Given the description of an element on the screen output the (x, y) to click on. 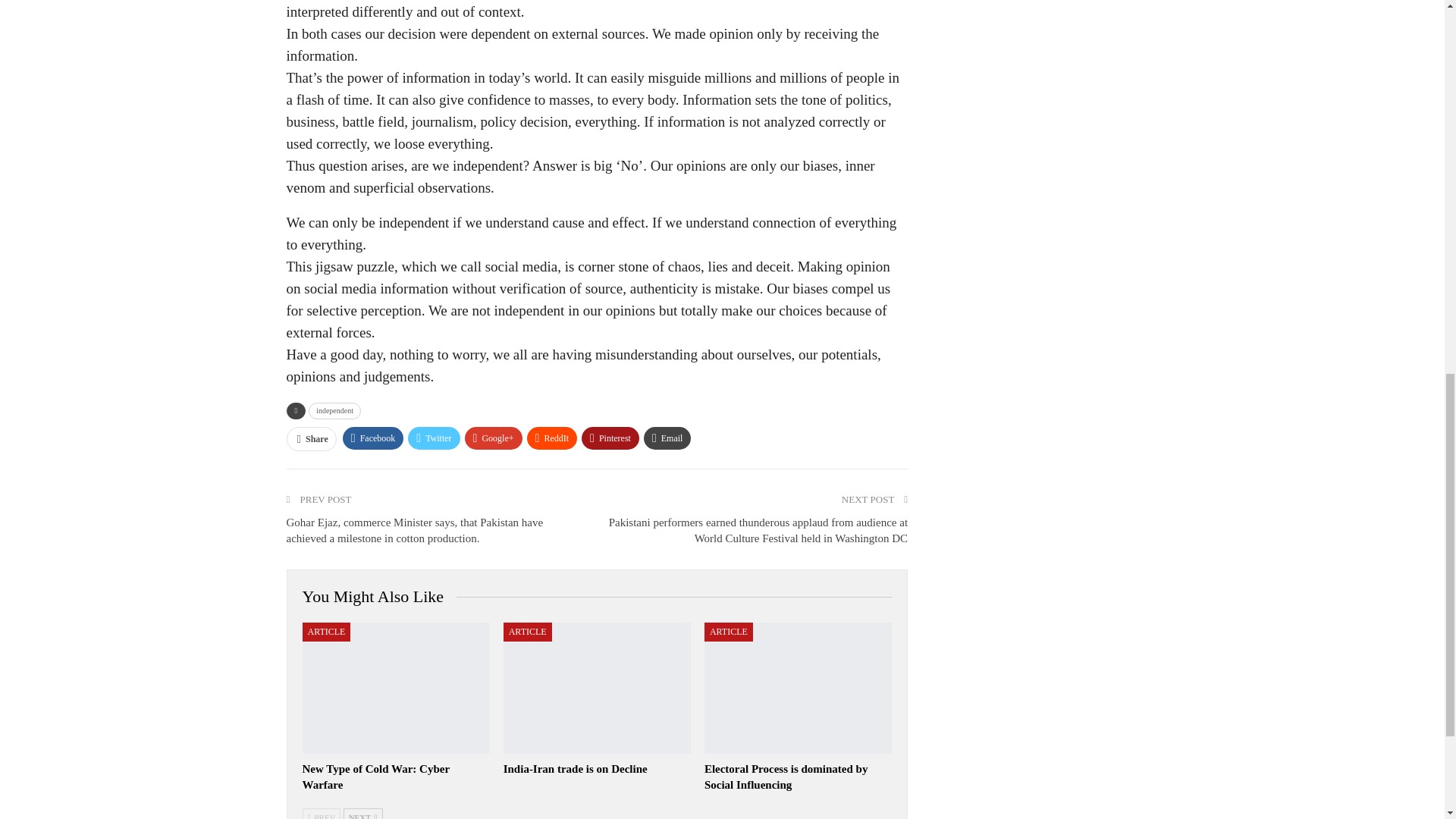
Next (362, 813)
New Type of Cold War: Cyber Warfare (374, 776)
Electoral Process is dominated by Social Influencing (797, 687)
New Type of Cold War: Cyber Warfare (395, 687)
Previous (320, 813)
Electoral Process is dominated by Social Influencing (785, 776)
